Given the description of an element on the screen output the (x, y) to click on. 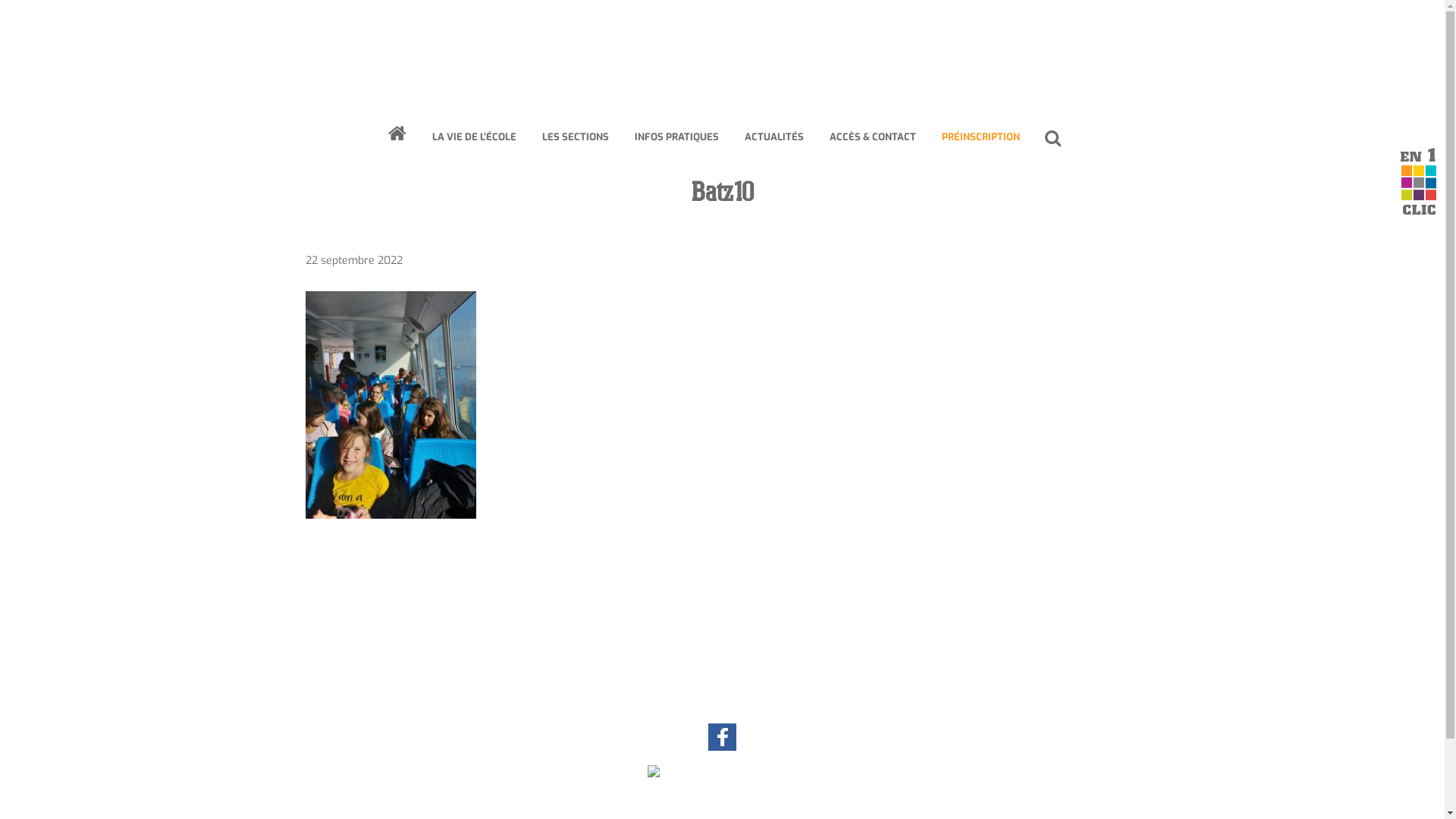
LES SECTIONS Element type: text (575, 137)
INFOS PRATIQUES Element type: text (676, 137)
Page Facebook de l'ensemble scolaire Element type: hover (722, 747)
Accueil Element type: hover (722, 774)
